Given the description of an element on the screen output the (x, y) to click on. 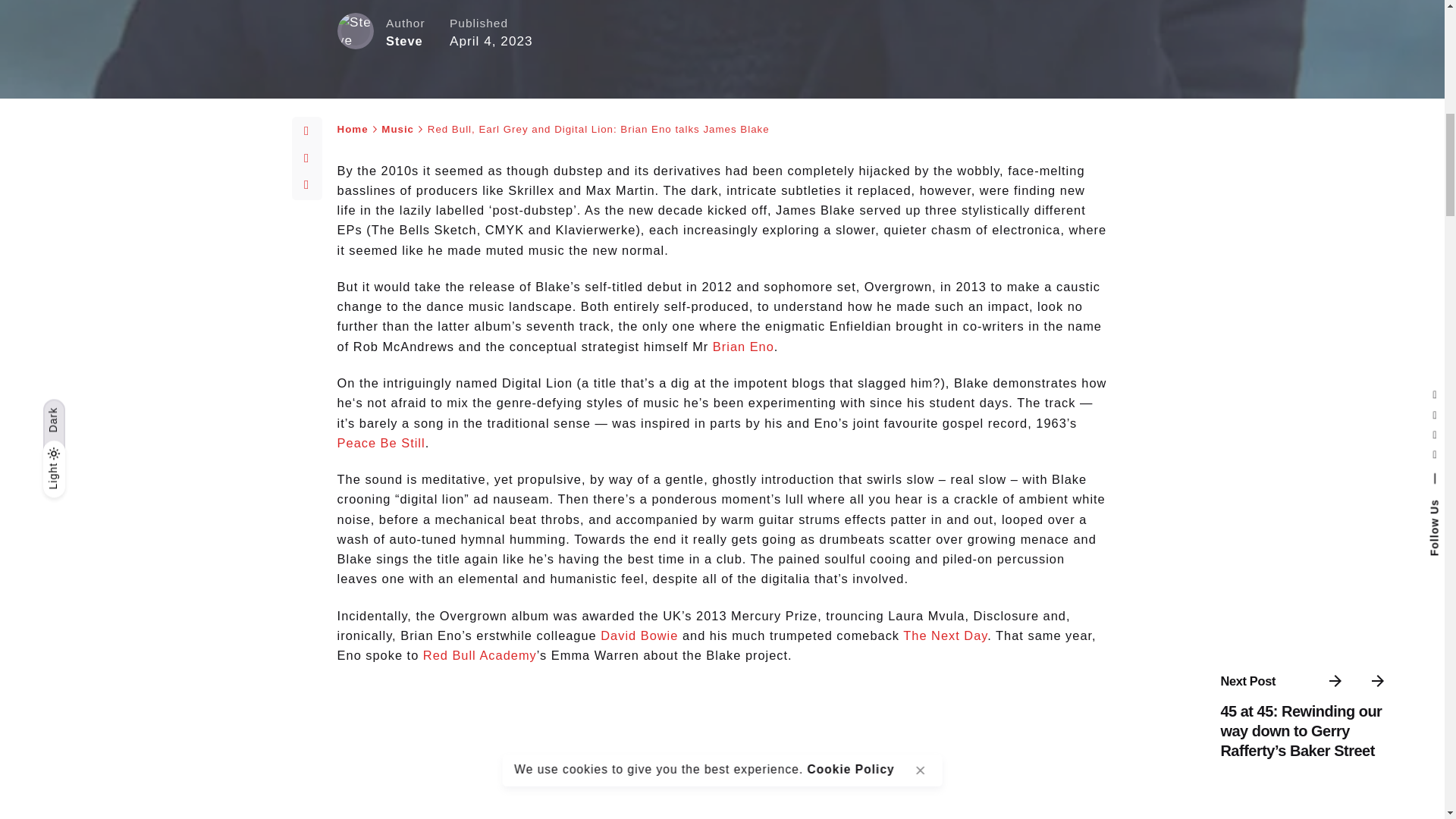
Digital Lion (678, 750)
